Given the description of an element on the screen output the (x, y) to click on. 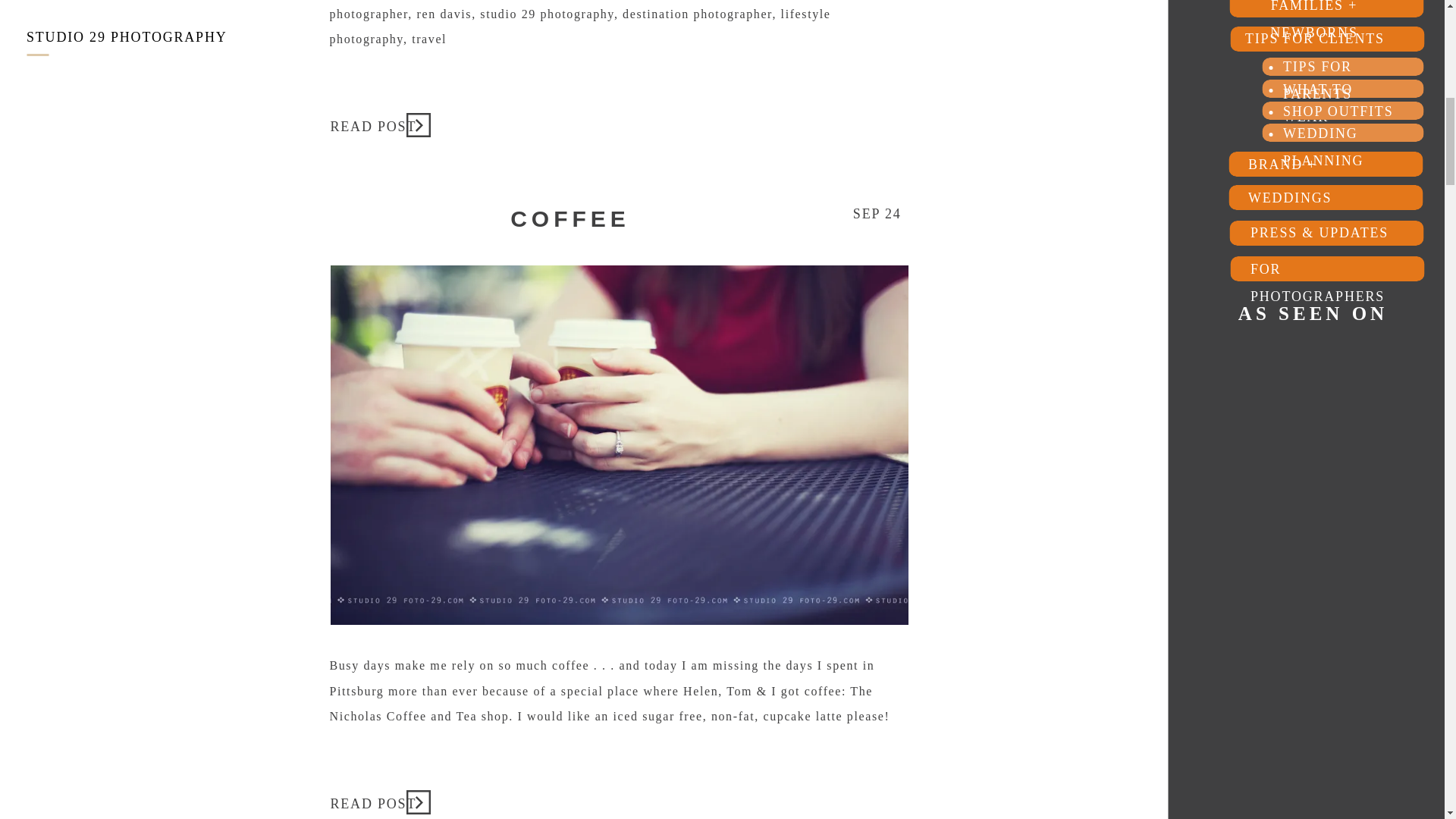
coffee (416, 802)
coffee (374, 801)
